Given the description of an element on the screen output the (x, y) to click on. 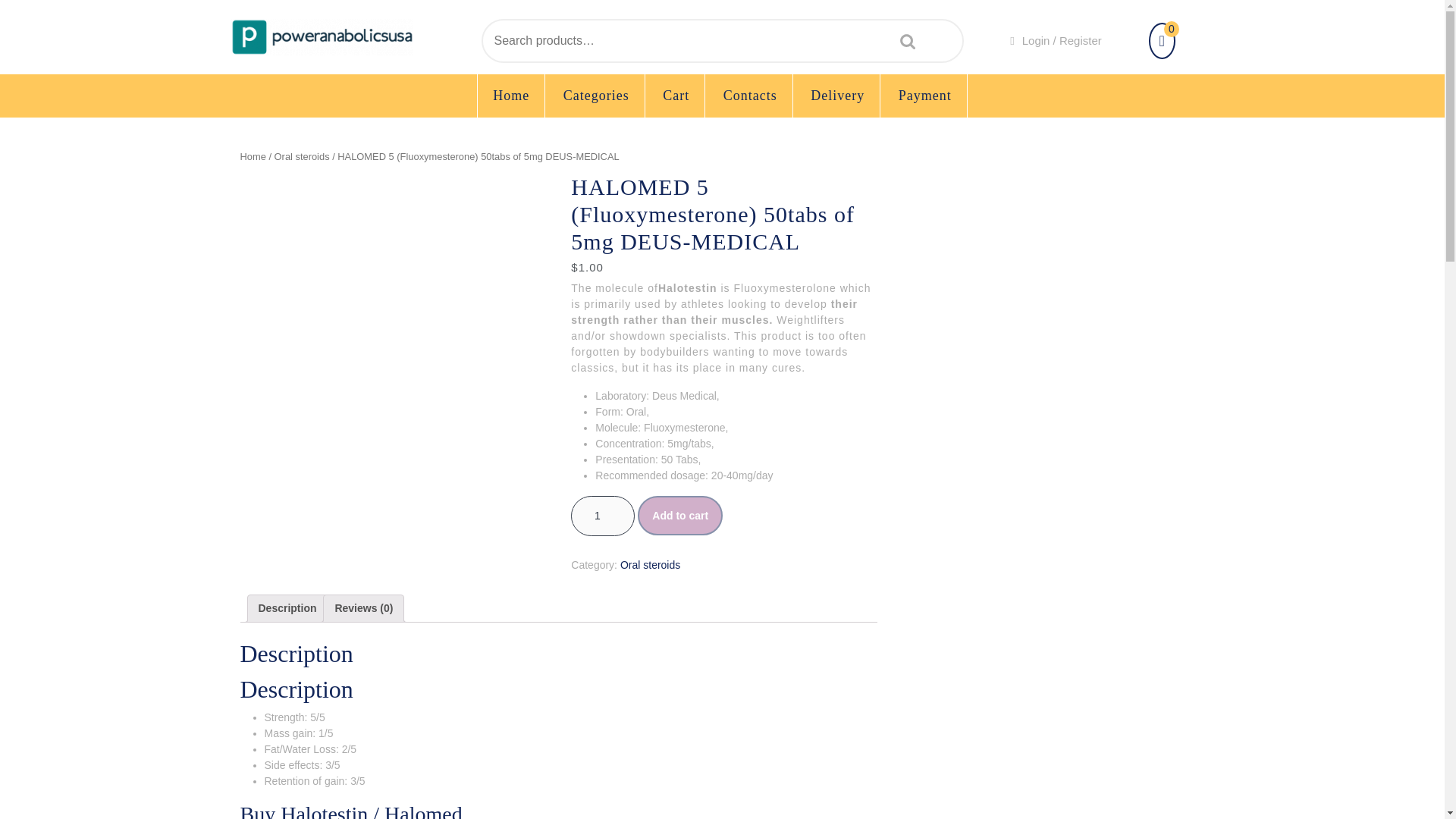
Categories (596, 95)
Delivery (837, 95)
Oral steroids (302, 156)
Shopping Cart (1161, 42)
Oral steroids (649, 564)
Description (286, 608)
shopping cart (1161, 42)
Home (510, 95)
Home (252, 156)
Add to cart (679, 515)
